Given the description of an element on the screen output the (x, y) to click on. 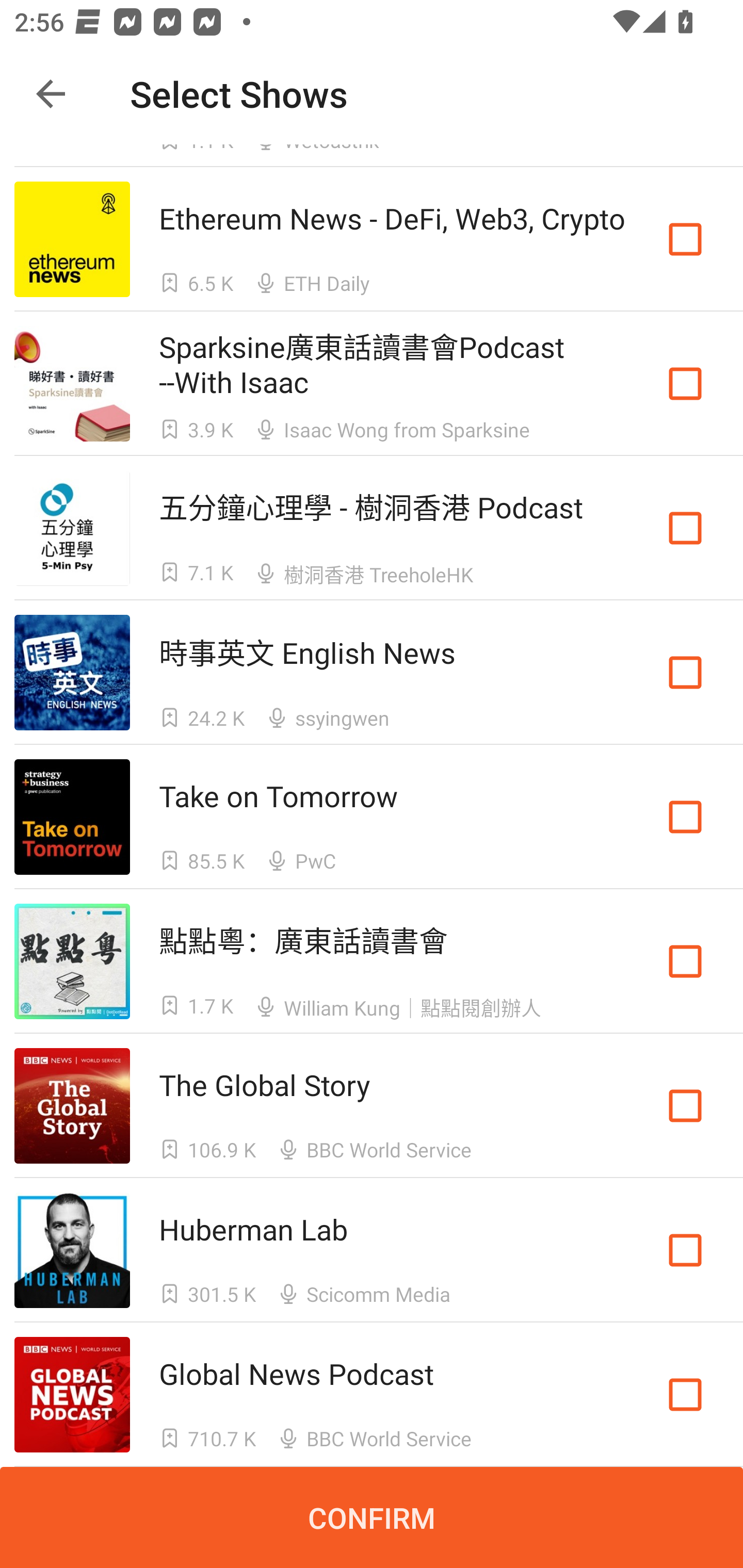
Navigate up (50, 93)
Take on Tomorrow Take on Tomorrow  85.5 K  PwC (371, 816)
CONFIRM (371, 1517)
